Given the description of an element on the screen output the (x, y) to click on. 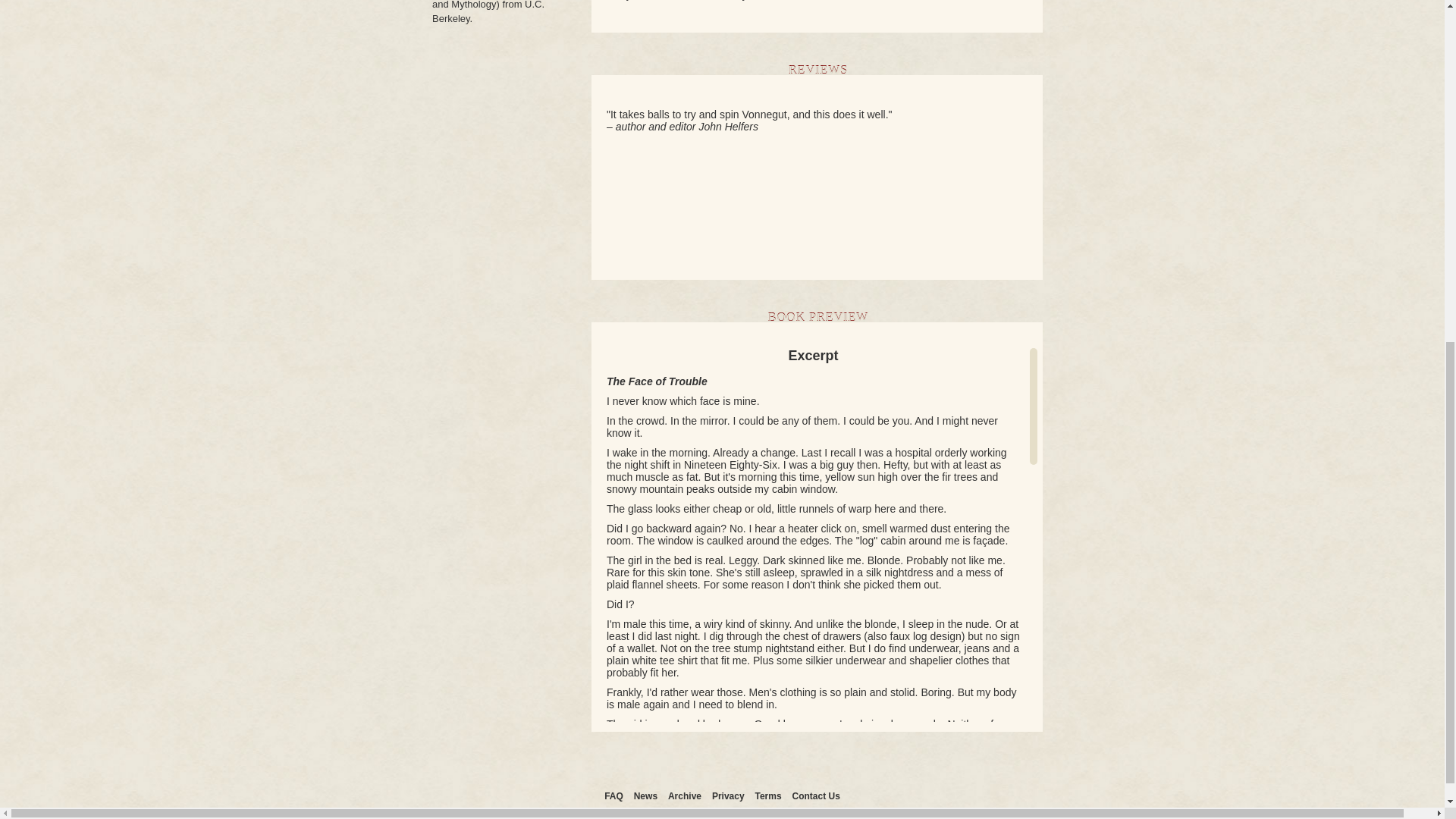
Terms (767, 796)
Archive (684, 796)
Contact Us (816, 796)
Privacy (727, 796)
News (645, 796)
FAQ (613, 796)
